Given the description of an element on the screen output the (x, y) to click on. 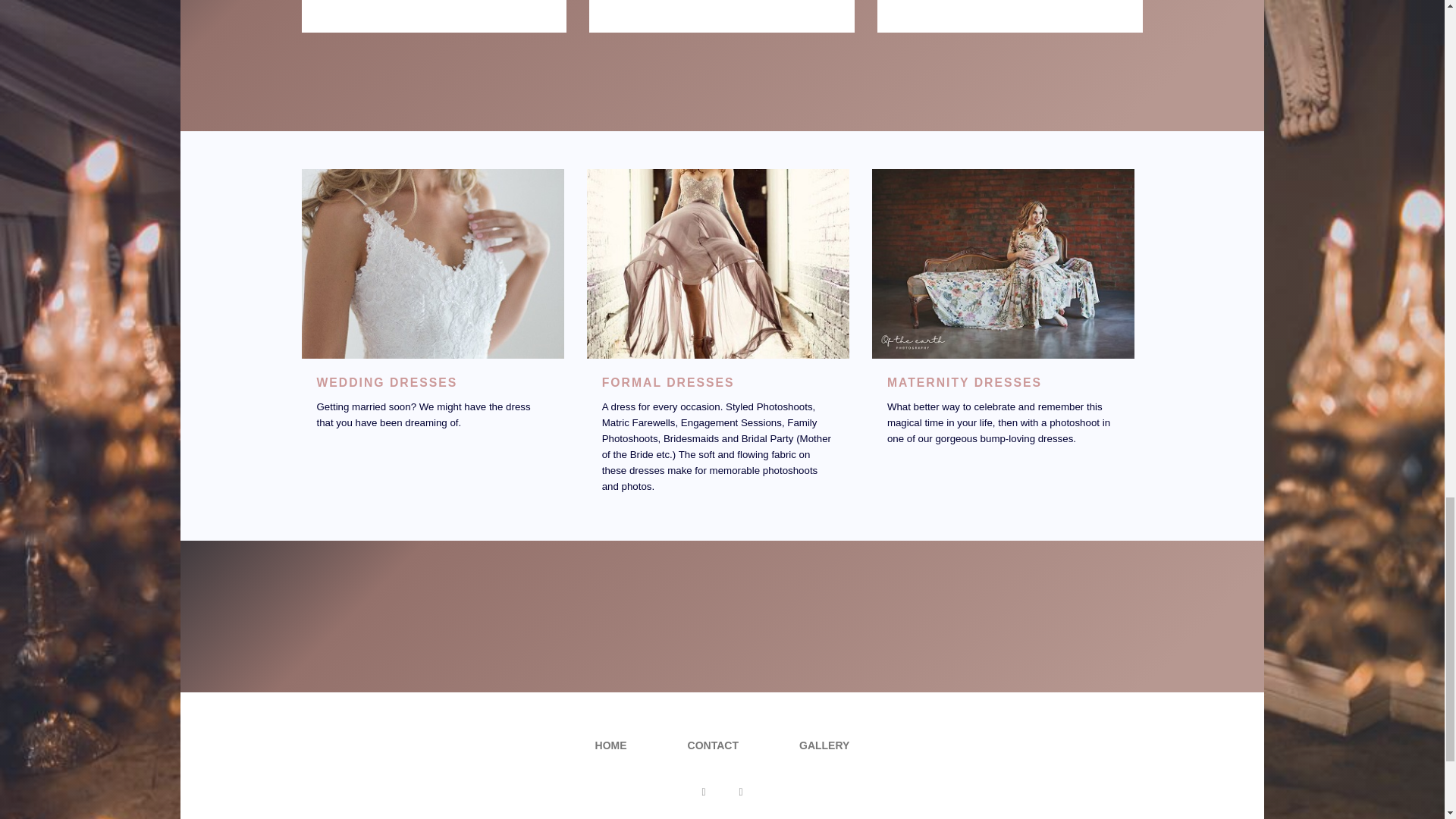
HOME (611, 745)
GALLERY (823, 745)
CONTACT (712, 745)
